Given the description of an element on the screen output the (x, y) to click on. 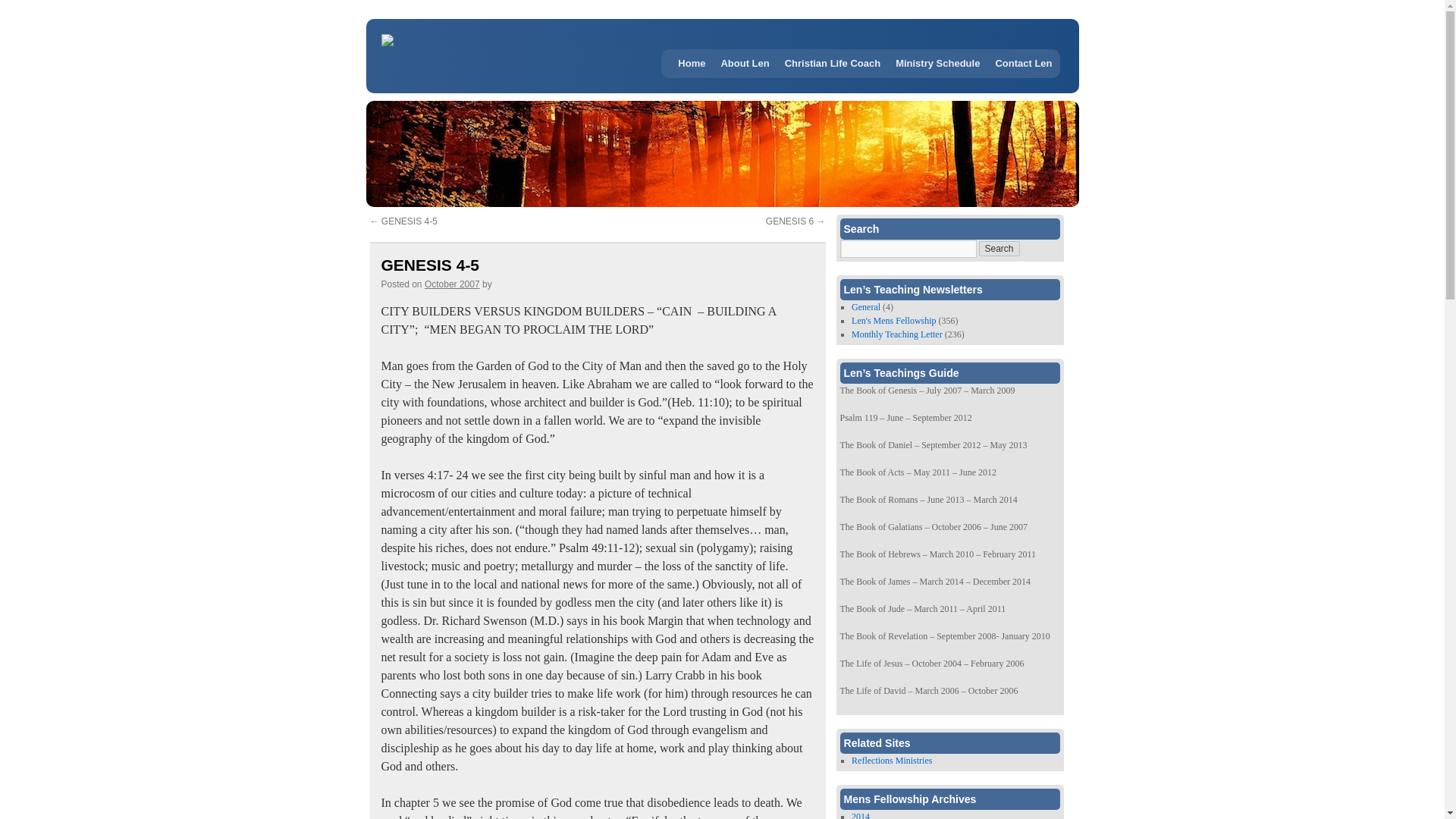
Ministry Schedule (937, 63)
Search (998, 248)
General (865, 307)
Monthly Teaching Letter (896, 334)
Home (691, 63)
October 2007 (452, 284)
12:00 am (452, 284)
Len's Mens Fellowship (893, 320)
Reflections Ministries (891, 760)
About Len (744, 63)
Search (998, 248)
Christian Life Coach (832, 63)
Contact Len (1023, 63)
2014 (860, 815)
